Given the description of an element on the screen output the (x, y) to click on. 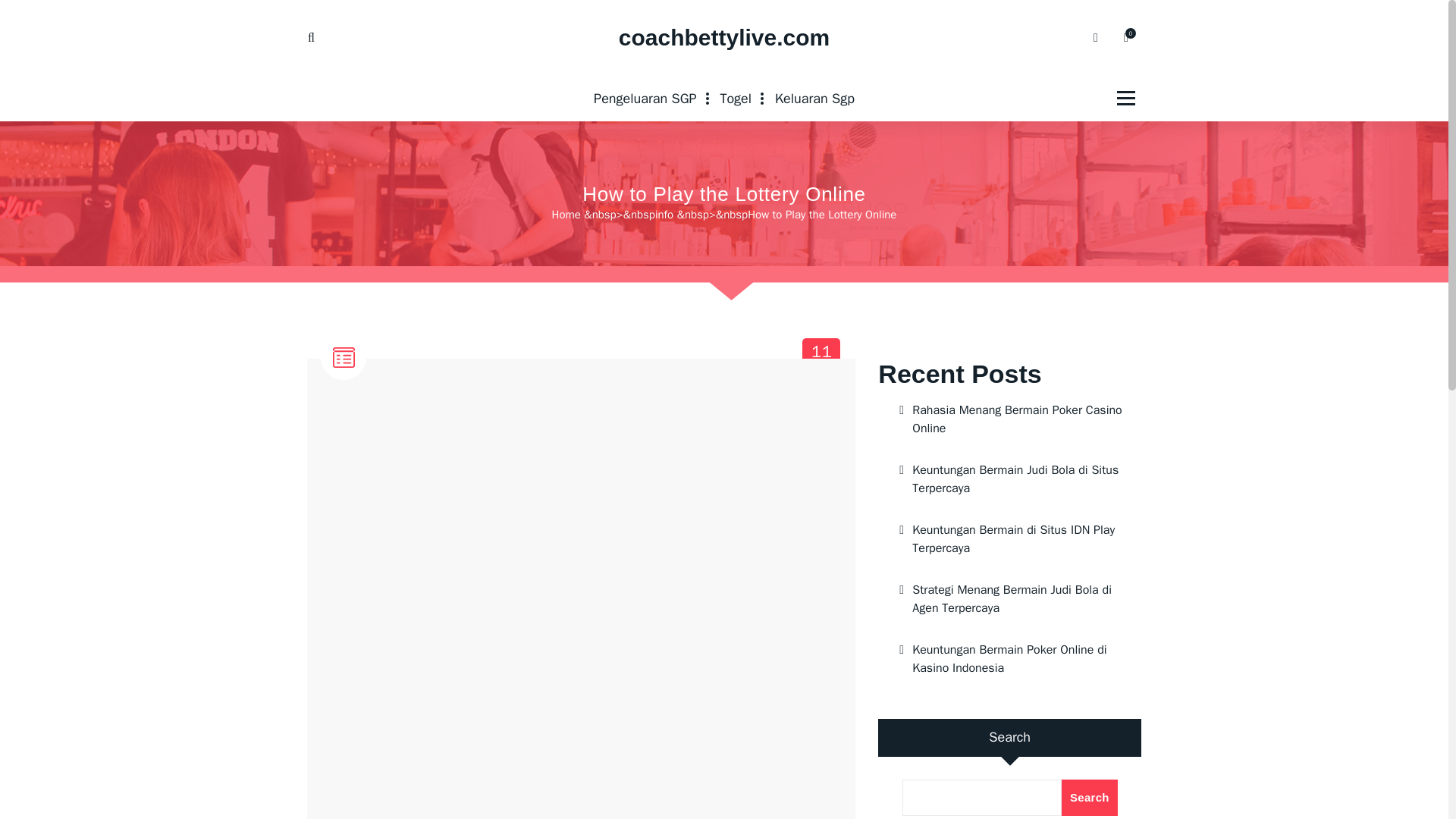
Keuntungan Bermain Poker Online di Kasino Indonesia (1009, 658)
Togel (734, 98)
coachbettylive.com (723, 37)
info (343, 396)
Keluaran Sgp (814, 98)
Keluaran Sgp (814, 98)
Home (565, 214)
Strategi Menang Bermain Judi Bola di Agen Terpercaya (1009, 598)
Keuntungan Bermain di Situs IDN Play Terpercaya (1009, 538)
info (663, 214)
